Given the description of an element on the screen output the (x, y) to click on. 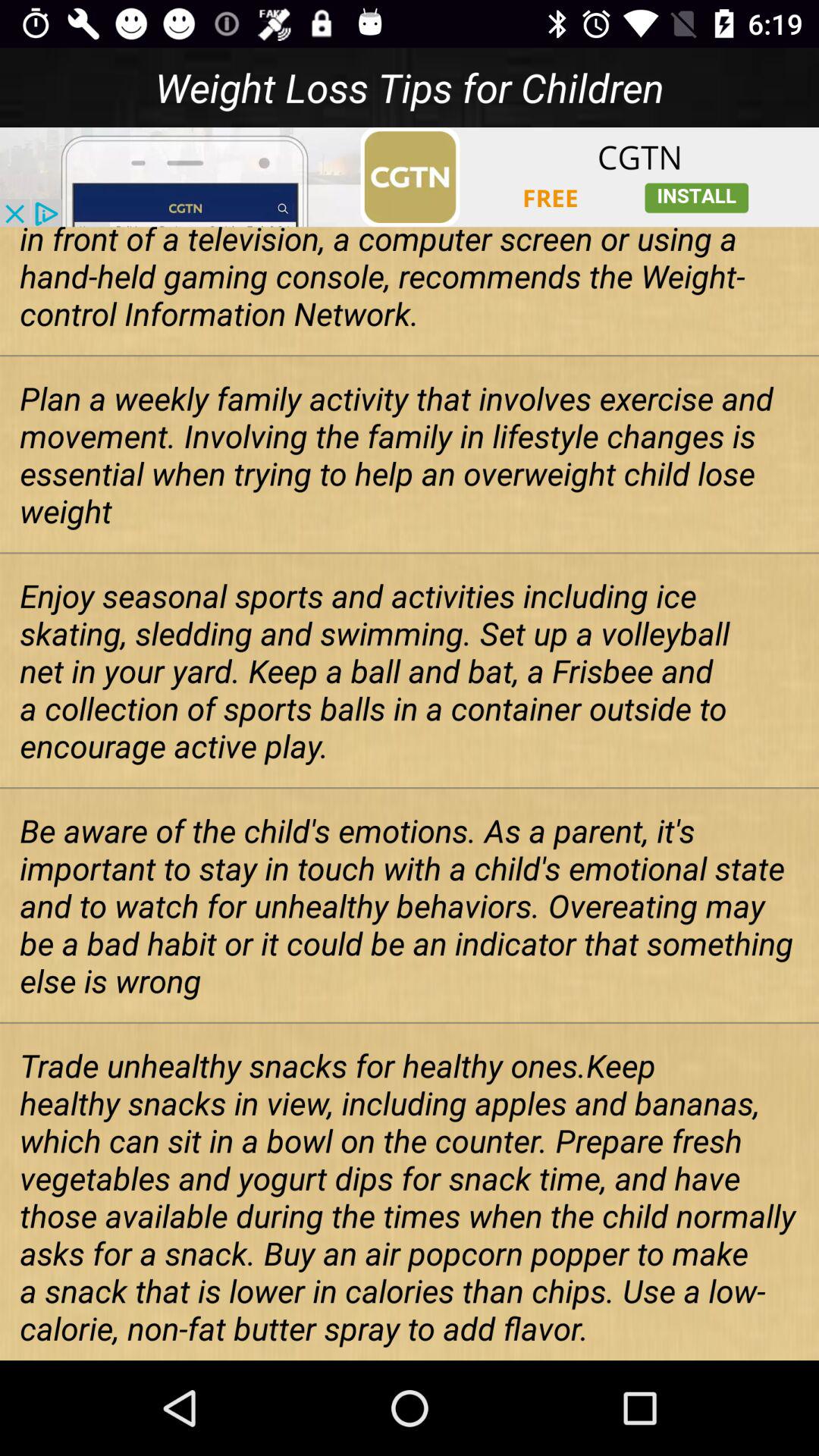
connect to advertisement (409, 176)
